Given the description of an element on the screen output the (x, y) to click on. 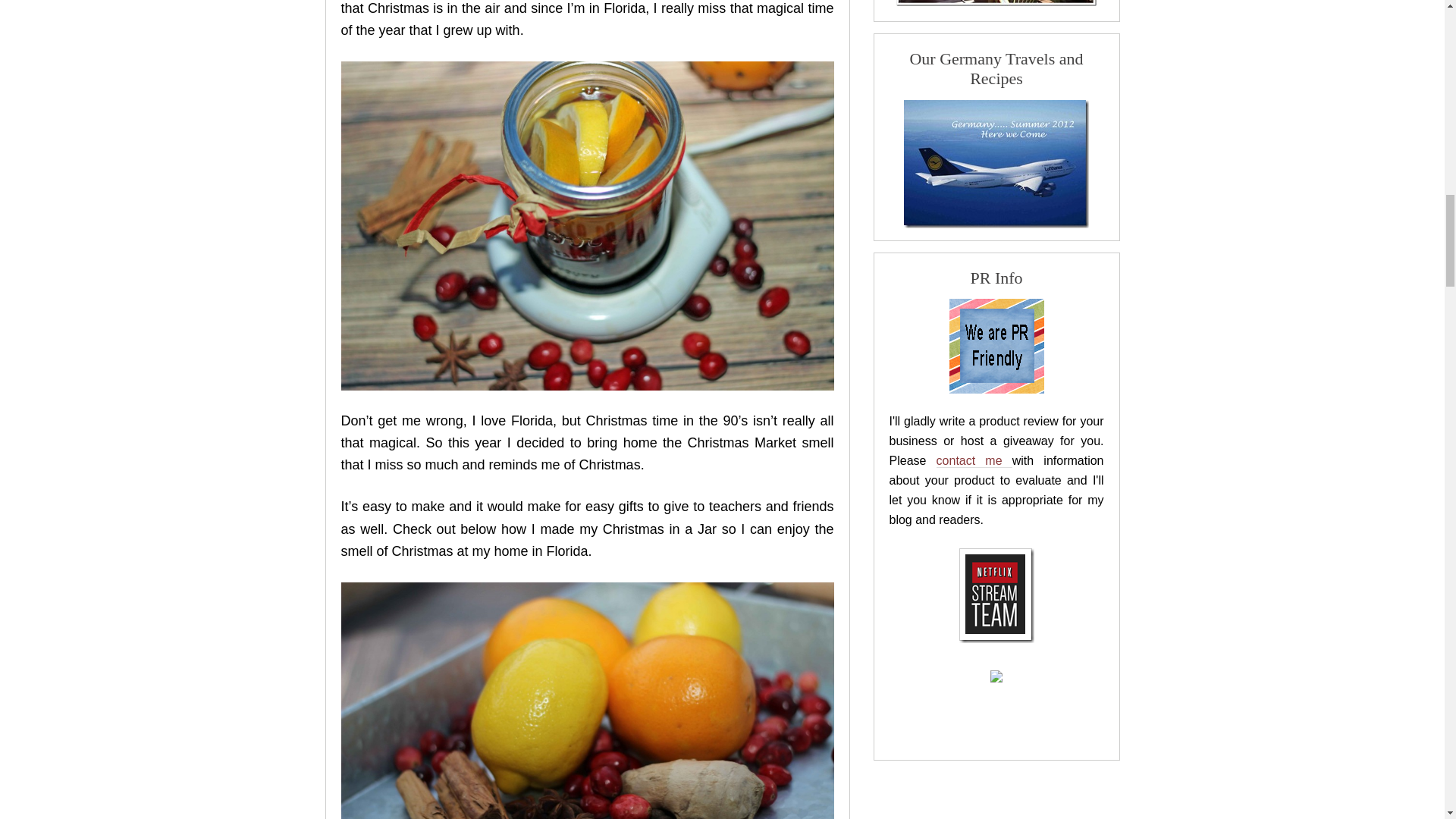
PR Summer copy (996, 345)
lufthansa-plane-copy (996, 163)
